Given the description of an element on the screen output the (x, y) to click on. 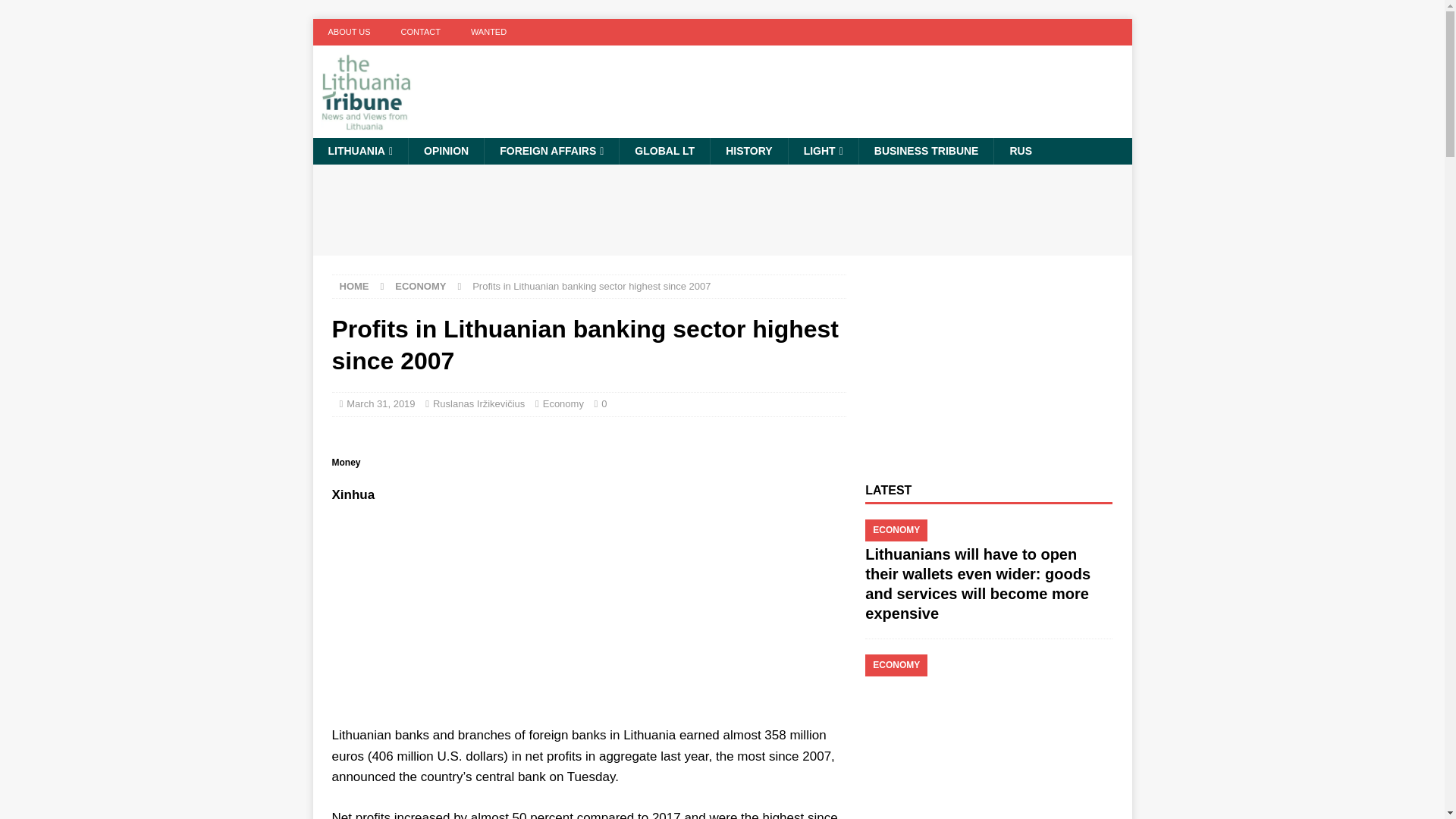
CONTACT (420, 31)
LITHUANIA (360, 150)
ABOUT US (349, 31)
WANTED (488, 31)
